Given the description of an element on the screen output the (x, y) to click on. 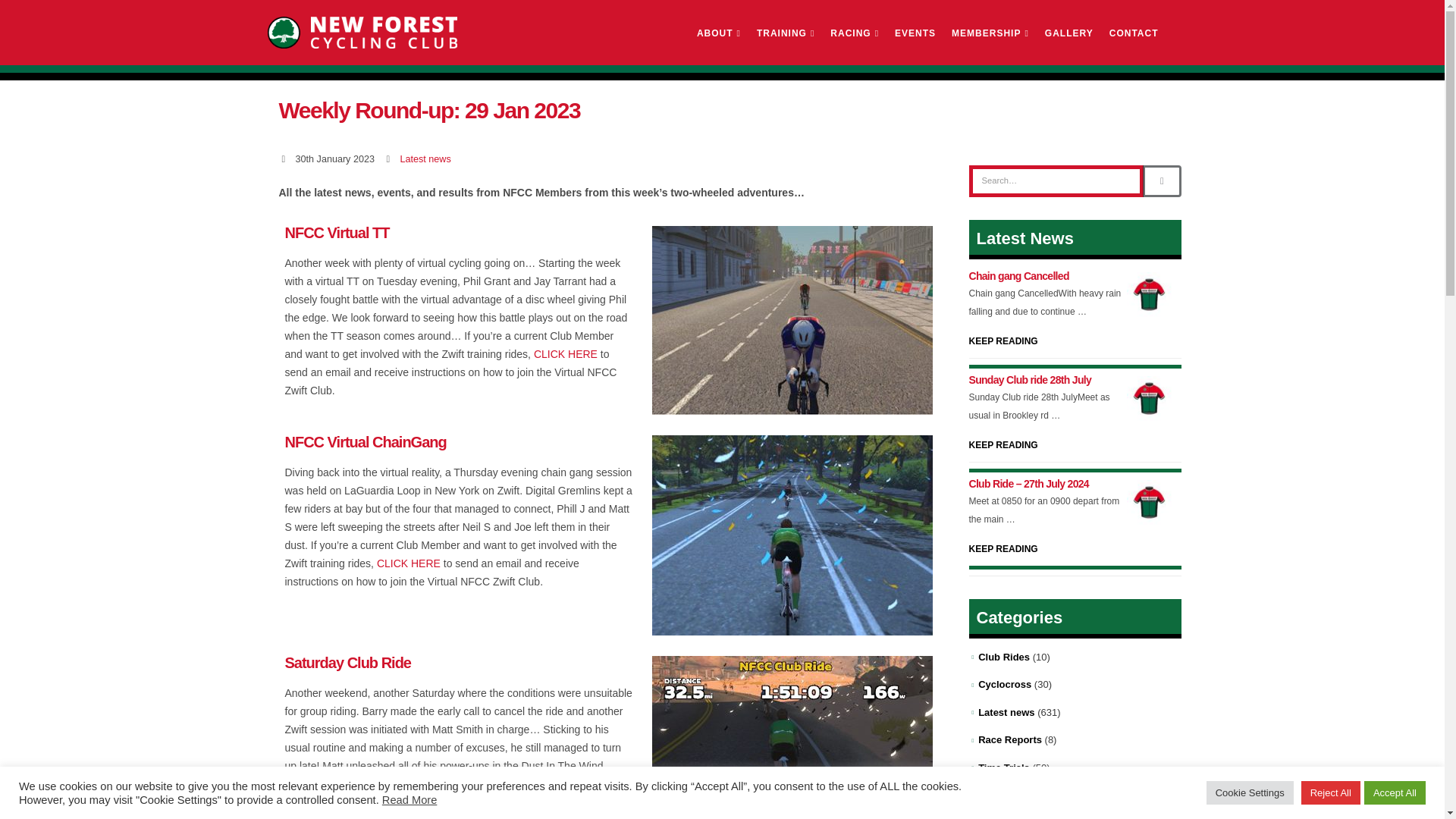
TRAINING (785, 33)
RACING (854, 33)
New Forest Cycling Club - Over 85 years of cycling pedigree (361, 32)
MEMBERSHIP (989, 33)
CONTACT (1134, 33)
ABOUT (718, 33)
EVENTS (914, 33)
GALLERY (1068, 33)
